Given the description of an element on the screen output the (x, y) to click on. 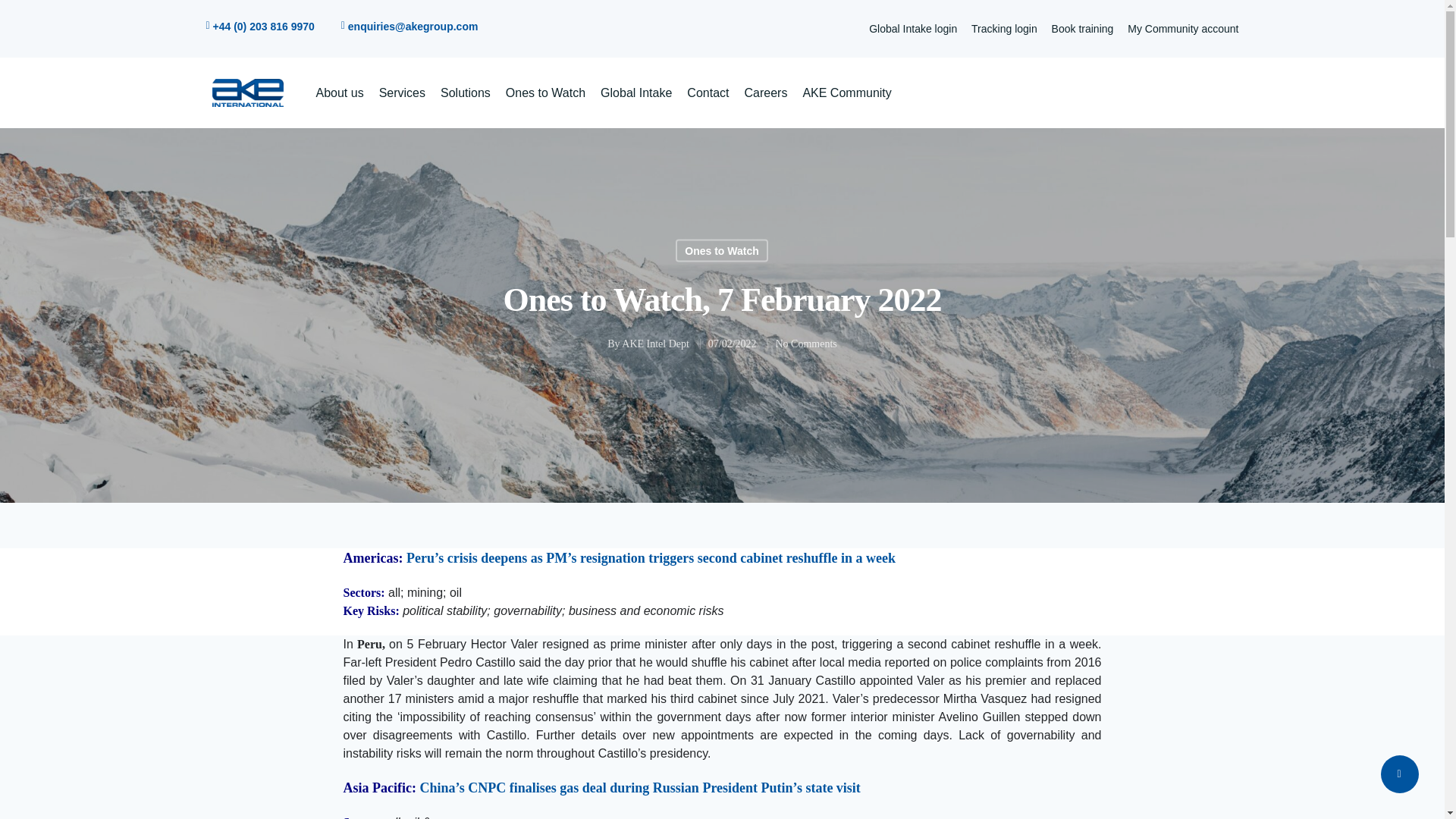
AKE Community (846, 92)
About us (338, 92)
Tracking login (1003, 28)
Ones to Watch (545, 92)
Careers (765, 92)
Services (401, 92)
Global Intake login (912, 28)
Book training (1082, 28)
Posts by AKE Intel Dept (654, 343)
Ones to Watch (721, 250)
Solutions (465, 92)
My Community account (1182, 28)
Contact (708, 92)
Global Intake (635, 92)
AKE Intel Dept (654, 343)
